Given the description of an element on the screen output the (x, y) to click on. 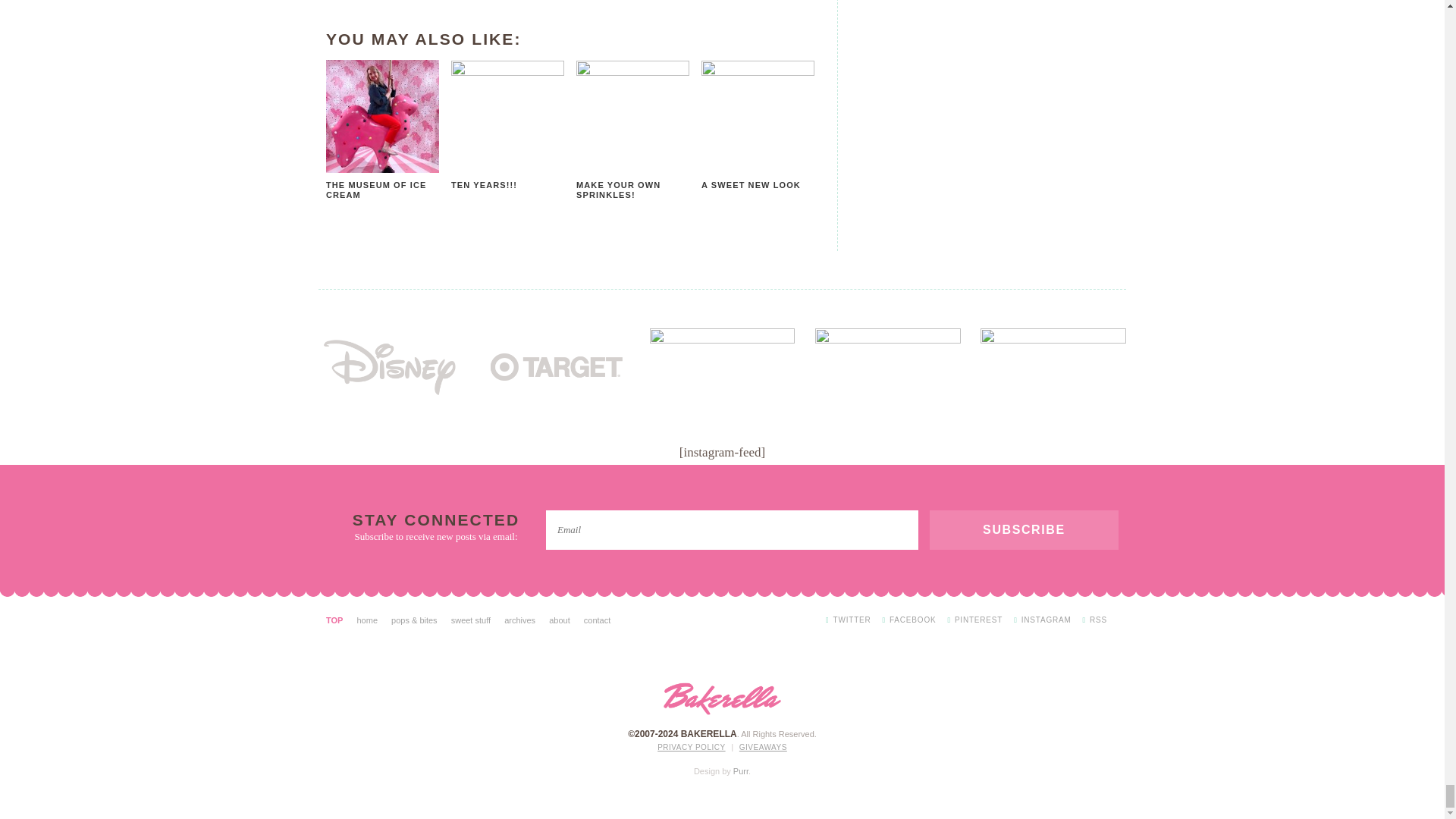
Pinterest (975, 619)
Twitter (847, 619)
Facebook (909, 619)
